Given the description of an element on the screen output the (x, y) to click on. 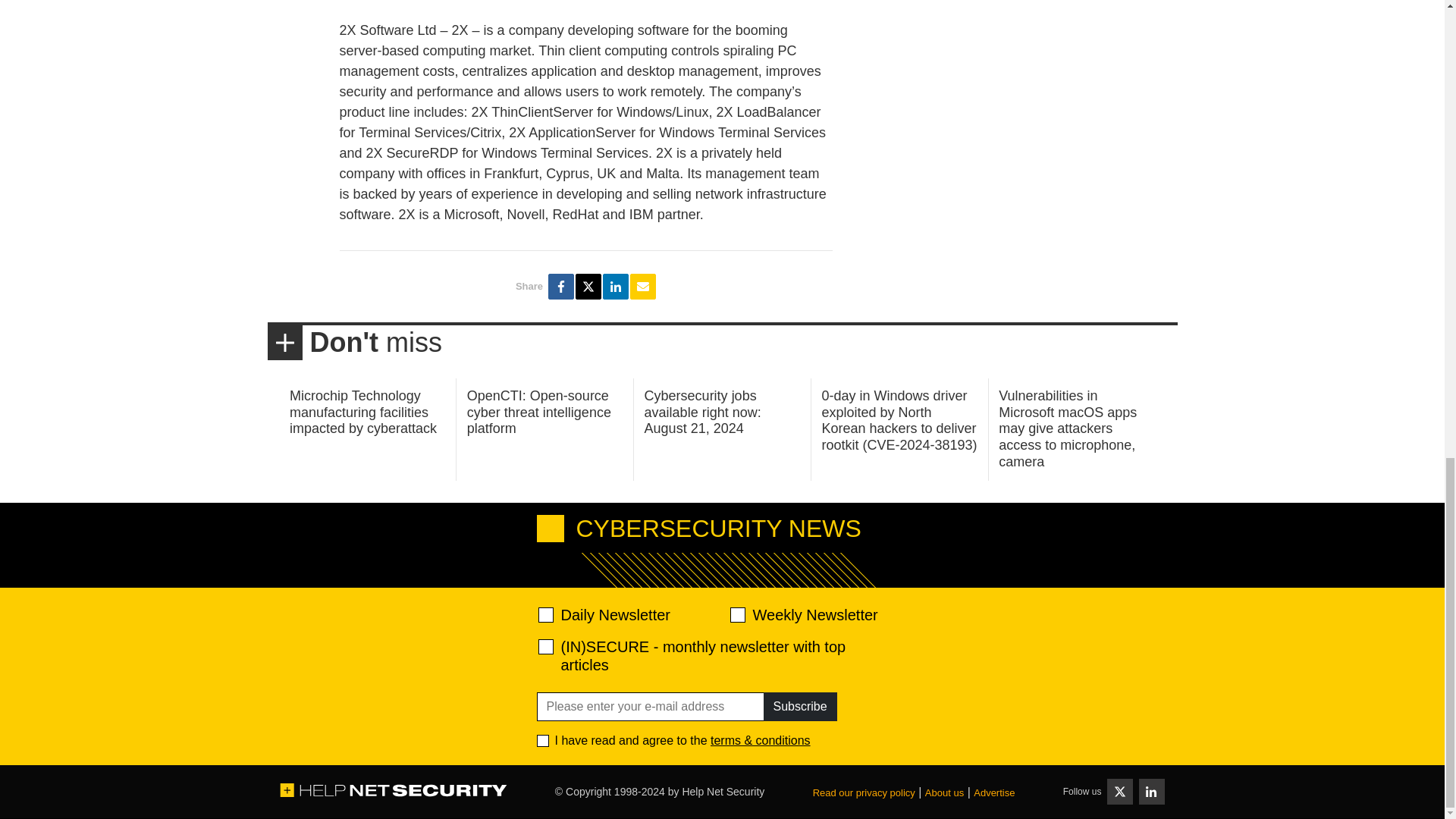
d2d471aafa (736, 614)
28abe5d9ef (545, 646)
OpenCTI: Open-source cyber threat intelligence platform (539, 411)
Share 2X to Give Away 1 Million Free Thin Clients on Twitter (588, 286)
Cybersecurity jobs available right now: August 21, 2024 (703, 411)
520ac2f639 (545, 614)
